Given the description of an element on the screen output the (x, y) to click on. 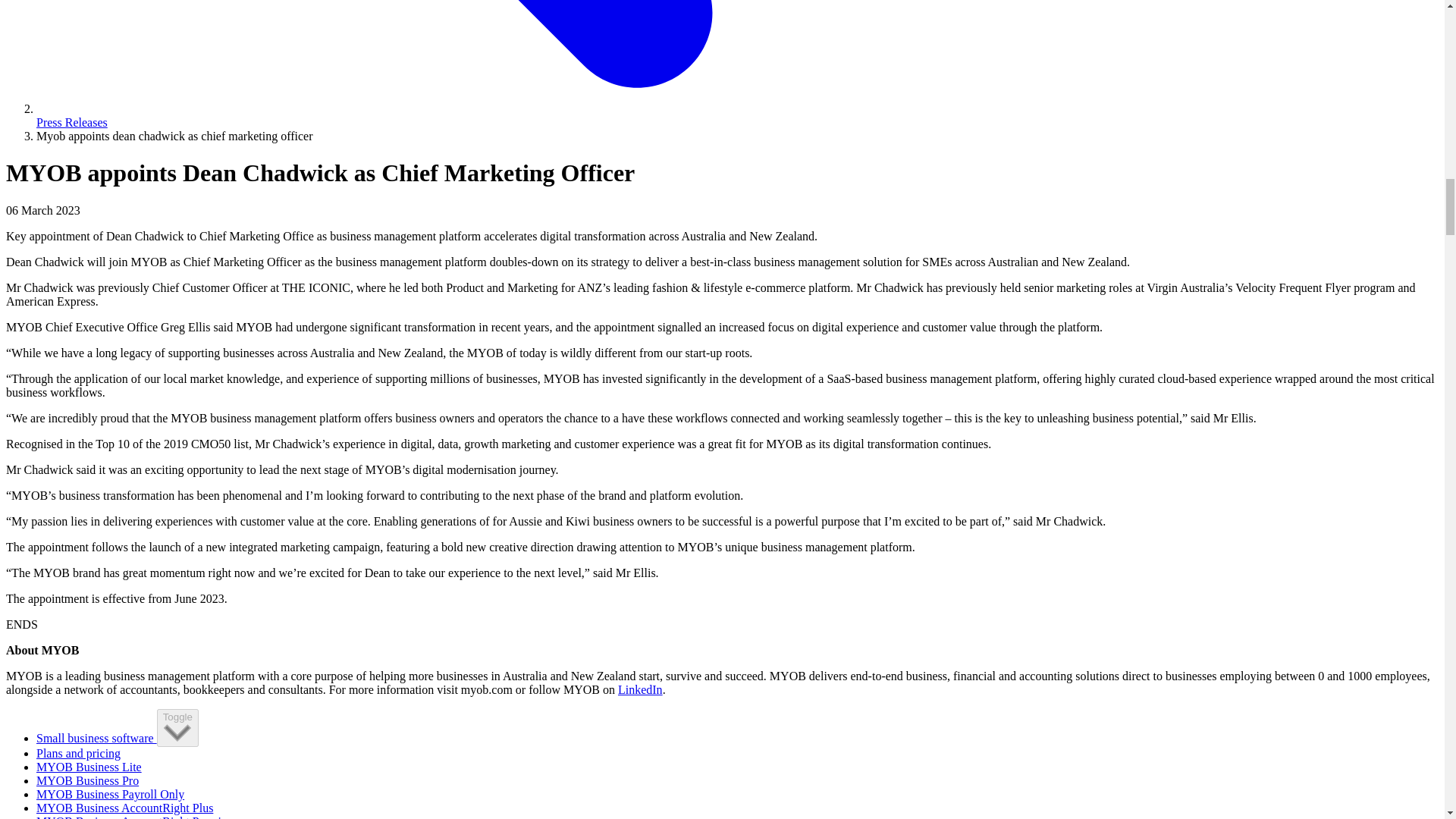
Chevron down (177, 732)
